Given the description of an element on the screen output the (x, y) to click on. 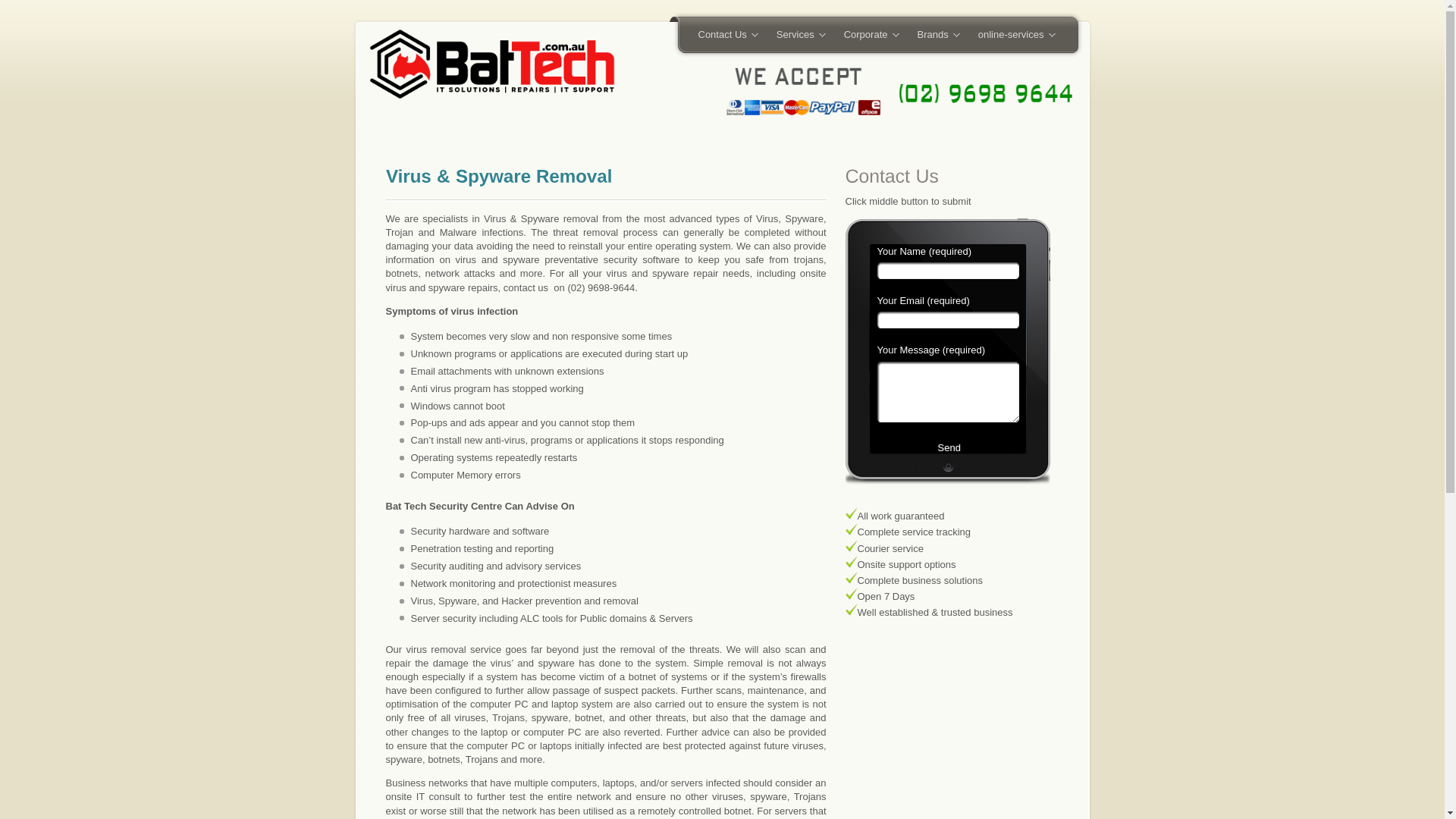
Send Element type: text (946, 457)
